Given the description of an element on the screen output the (x, y) to click on. 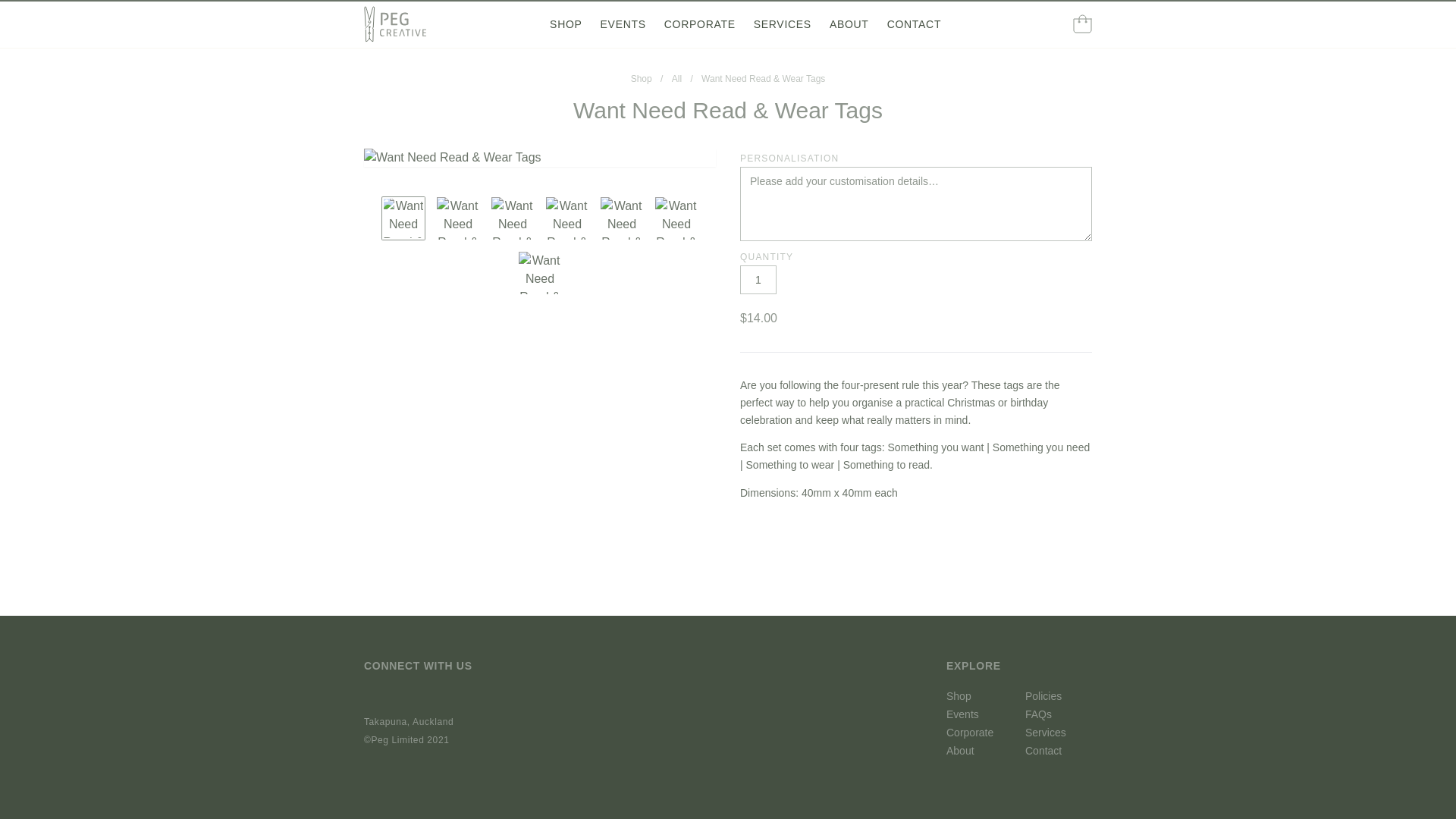
About (979, 750)
Shop (979, 695)
Shop (641, 78)
SERVICES (782, 24)
Corporate (979, 732)
1 (757, 279)
CORPORATE (699, 24)
EVENTS (622, 24)
SHOP (565, 24)
CONTACT (914, 24)
